Given the description of an element on the screen output the (x, y) to click on. 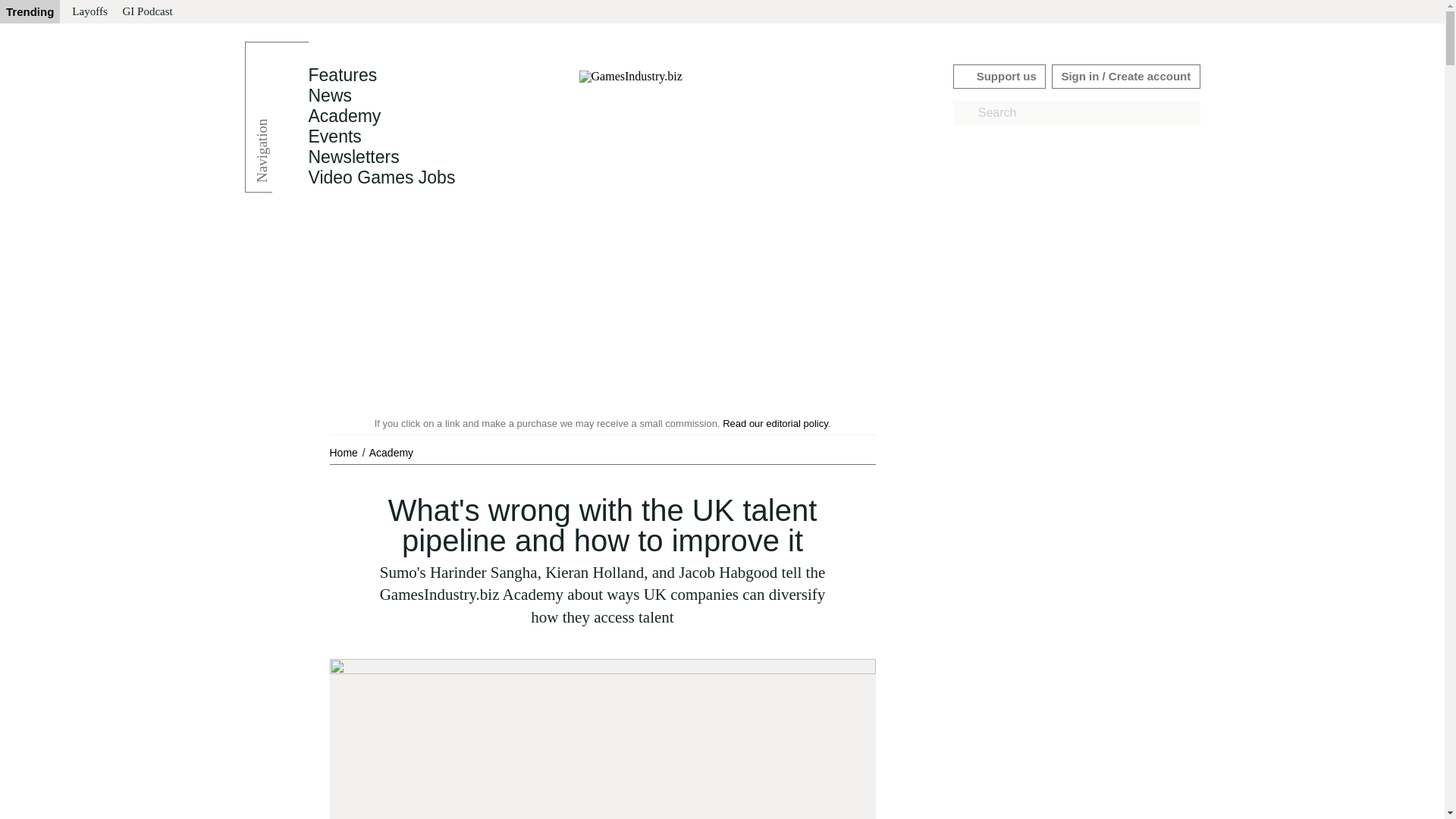
Academy (343, 116)
Events (334, 136)
Video Games Jobs (380, 177)
Features (342, 75)
GI Podcast (146, 11)
Features (342, 75)
Academy (391, 452)
Newsletters (352, 157)
Academy (391, 452)
Home (344, 452)
